Given the description of an element on the screen output the (x, y) to click on. 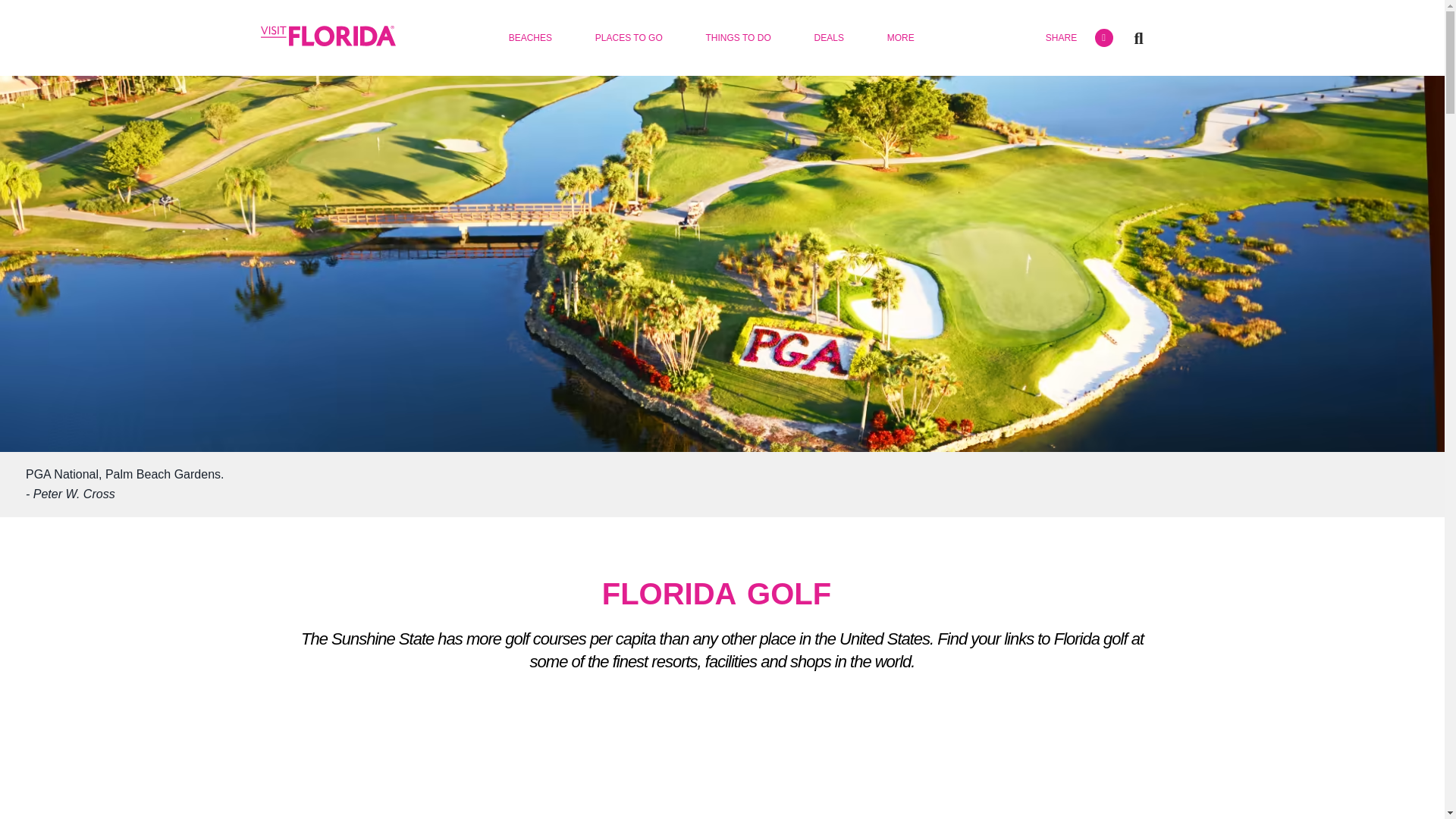
MORE (900, 38)
DEALS (828, 38)
THINGS TO DO (737, 38)
BEACHES (529, 38)
PLACES TO GO (628, 38)
